Given the description of an element on the screen output the (x, y) to click on. 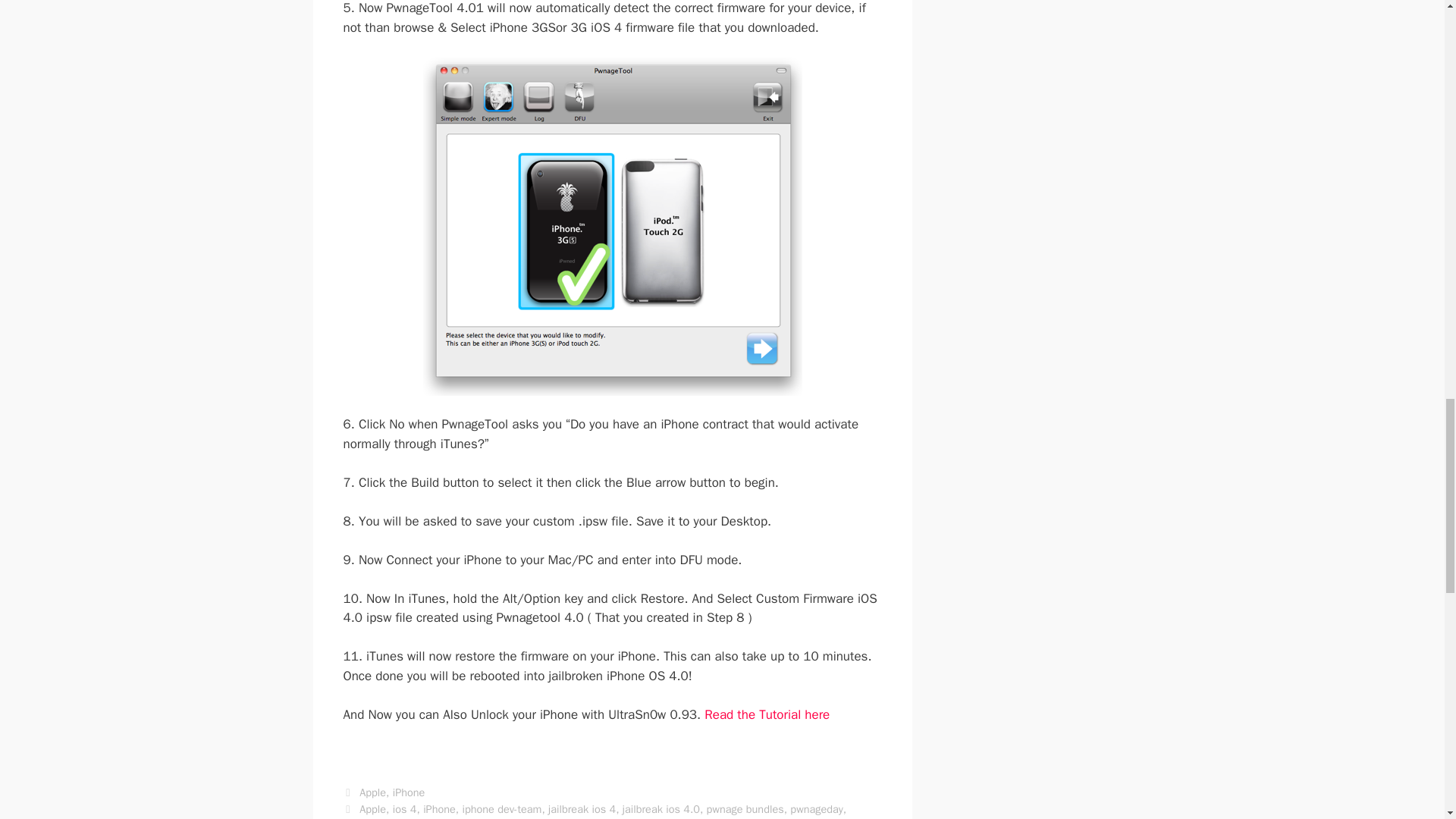
Read the Tutorial here (766, 714)
iPhone (439, 808)
Apple (372, 792)
ios 4 (404, 808)
jailbreak ios 4 (581, 808)
pwnage bundles (745, 808)
iphone dev-team (501, 808)
jailbreak ios 4.0 (661, 808)
pwnageday (816, 808)
iPhone (409, 792)
Apple (372, 808)
